Given the description of an element on the screen output the (x, y) to click on. 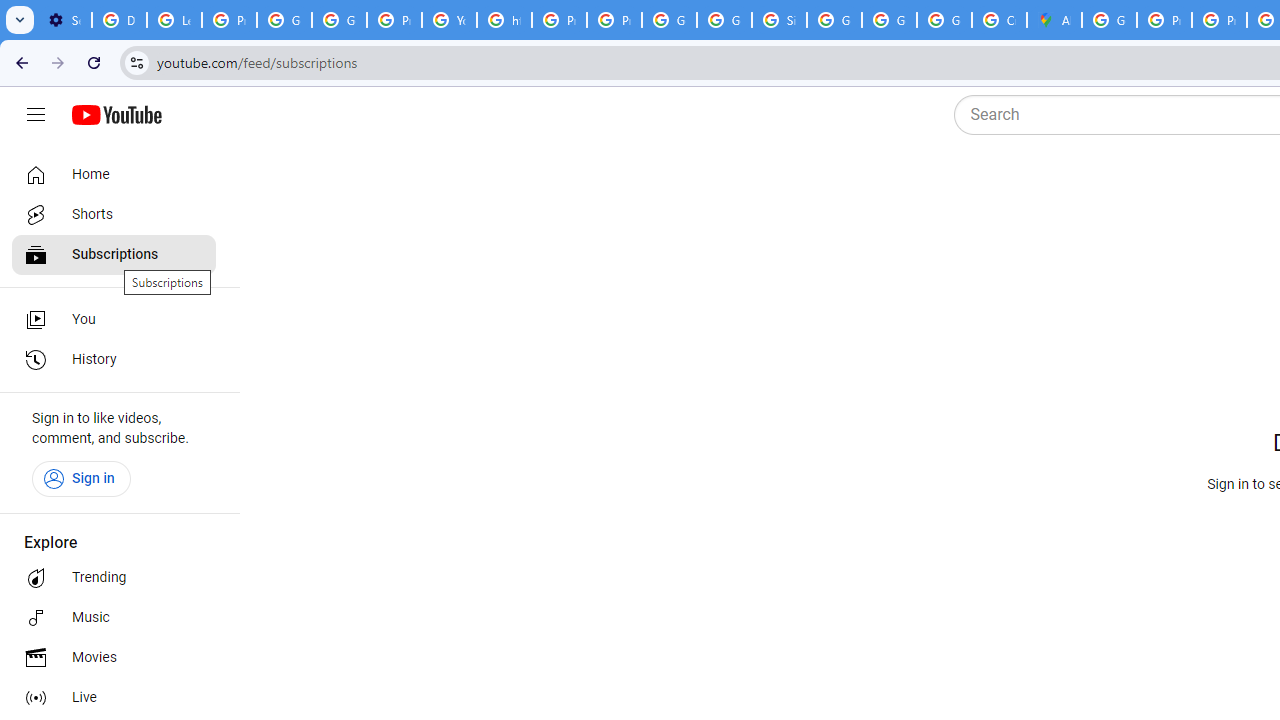
Google Account Help (284, 20)
Sign in - Google Accounts (779, 20)
Live (113, 697)
Learn how to find your photos - Google Photos Help (174, 20)
Shorts (113, 214)
Subscriptions (113, 254)
Privacy Help Center - Policies Help (1218, 20)
Home (113, 174)
History (113, 359)
Create your Google Account (998, 20)
